Given the description of an element on the screen output the (x, y) to click on. 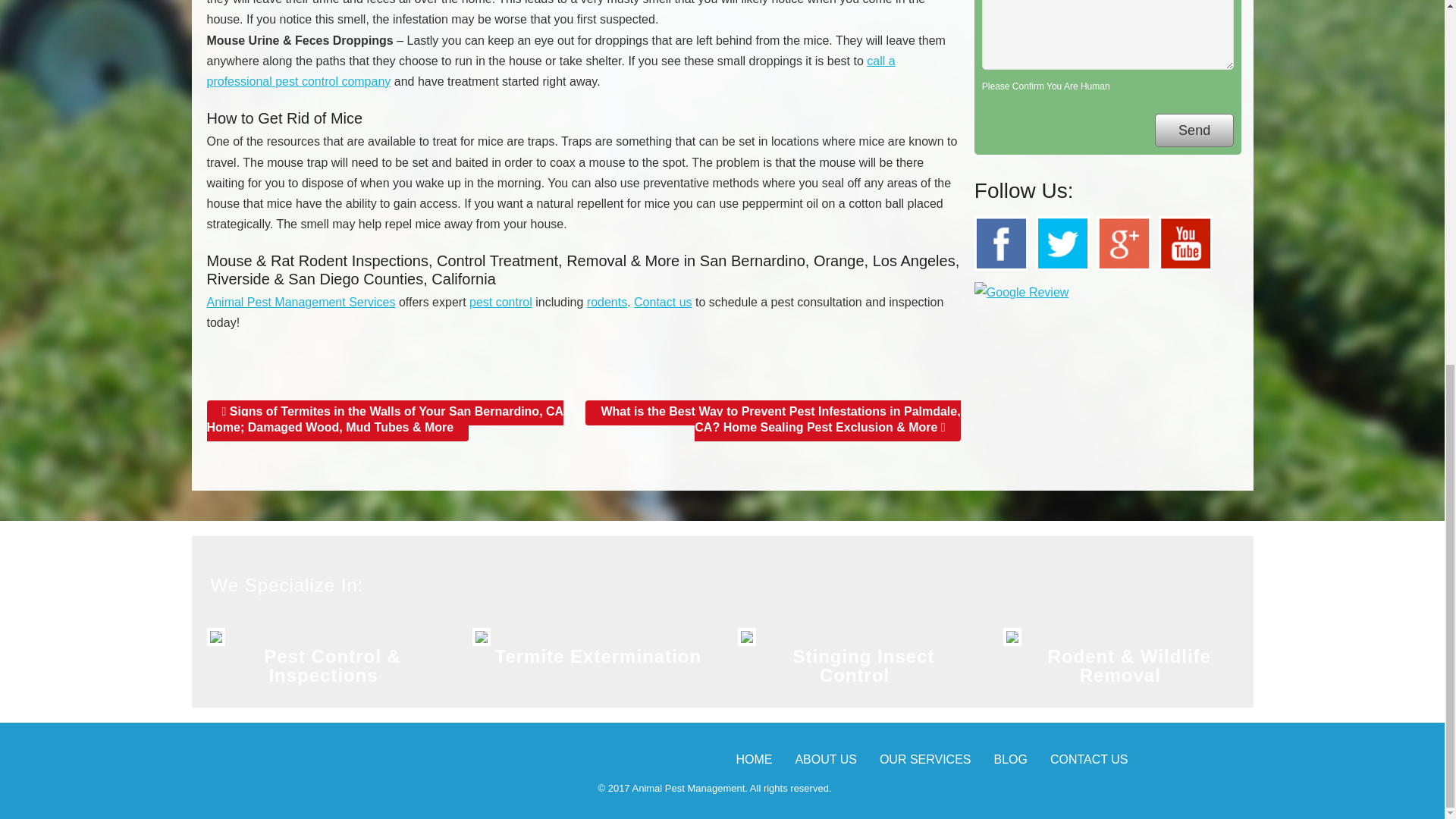
Animal Pest Management Services (300, 301)
call a professional pest control company (550, 70)
Contact us (662, 301)
Send (1193, 130)
rodents (606, 301)
pest control (500, 301)
